Given the description of an element on the screen output the (x, y) to click on. 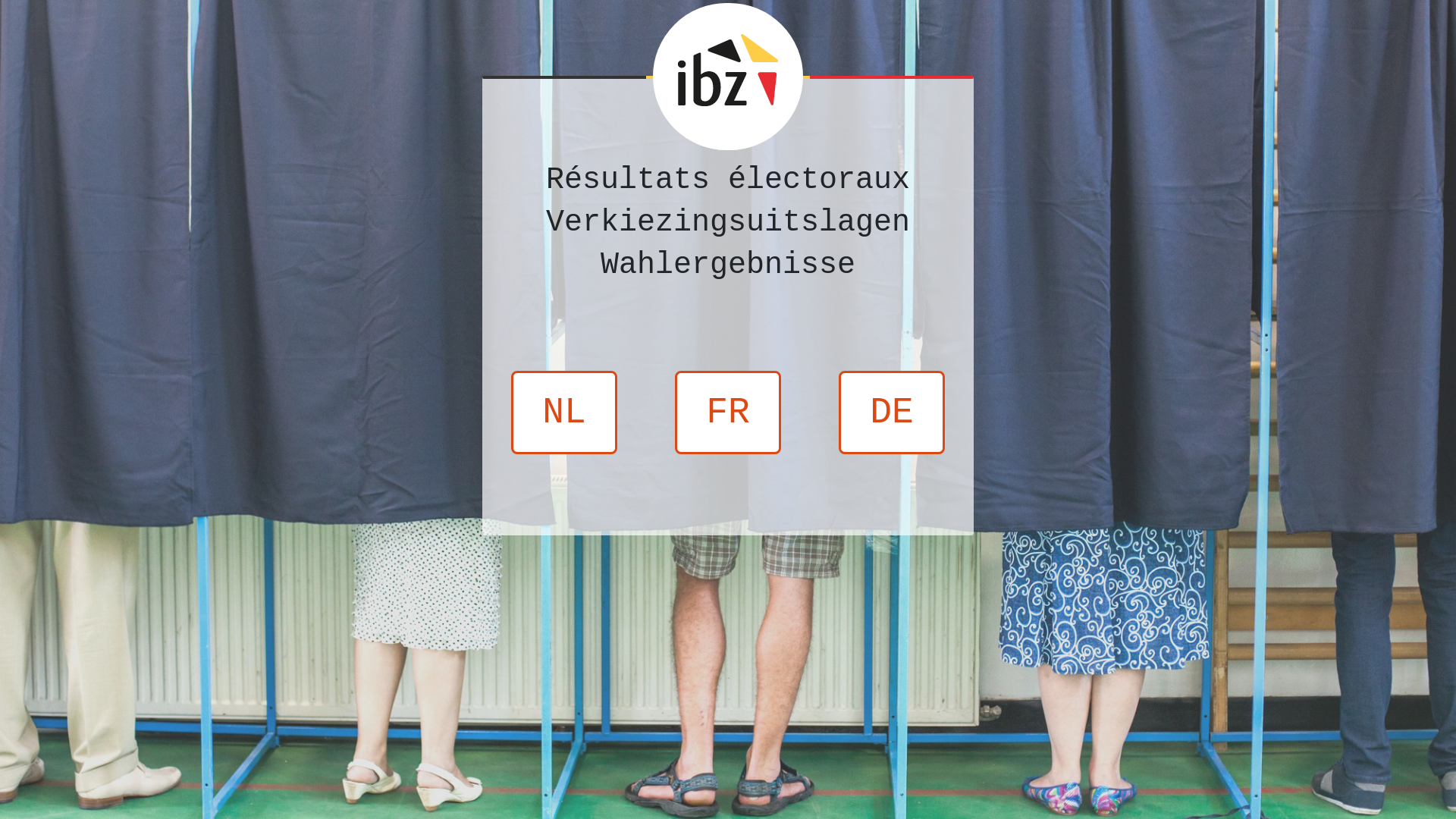
FR Element type: text (727, 412)
NL Element type: text (564, 412)
DE Element type: text (891, 412)
